Given the description of an element on the screen output the (x, y) to click on. 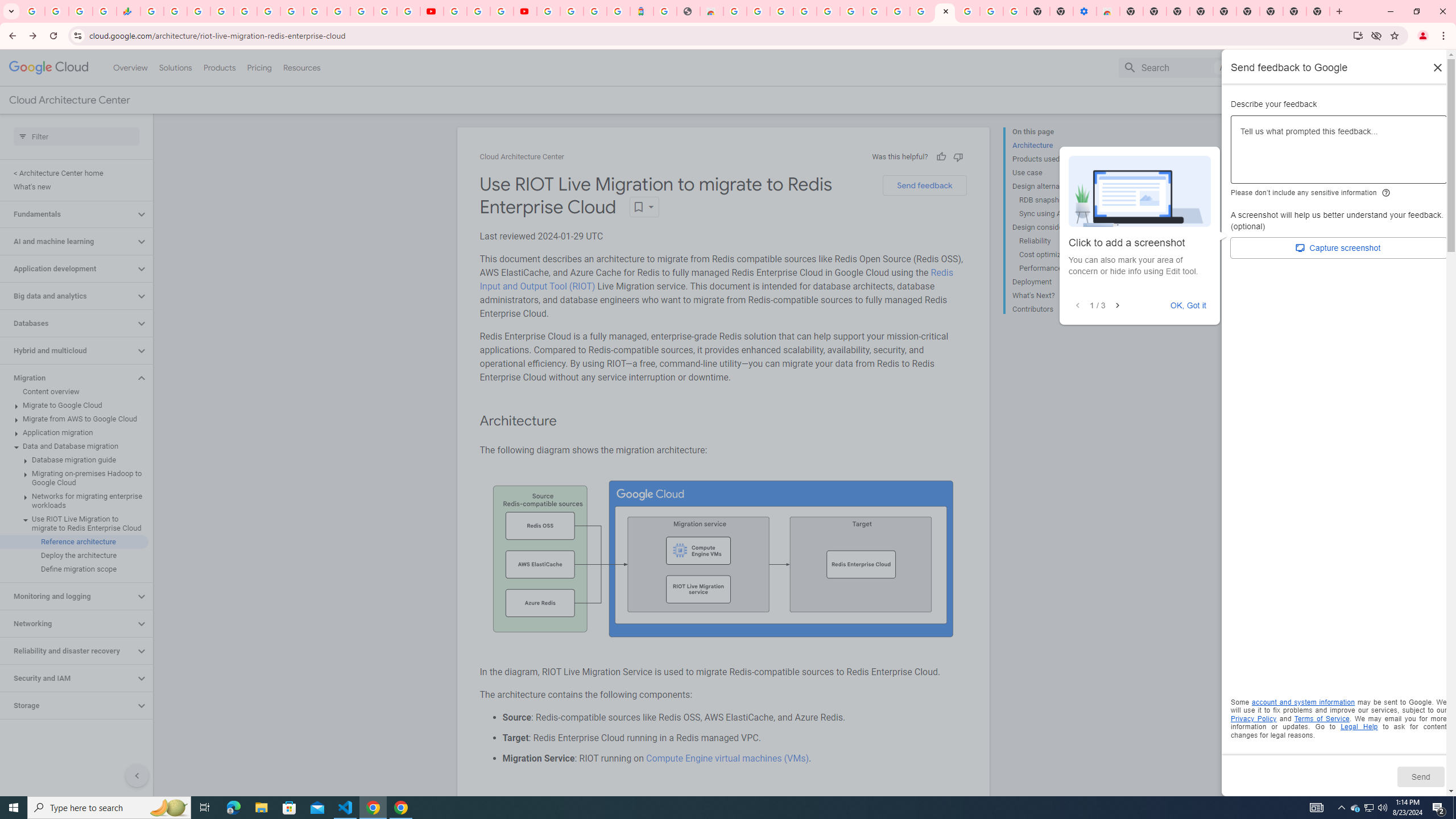
Migrate from AWS to Google Cloud (74, 418)
Previous (1077, 305)
Support (1296, 67)
Atour Hotel - Google hotels (641, 11)
AI and machine learning (67, 241)
